Given the description of an element on the screen output the (x, y) to click on. 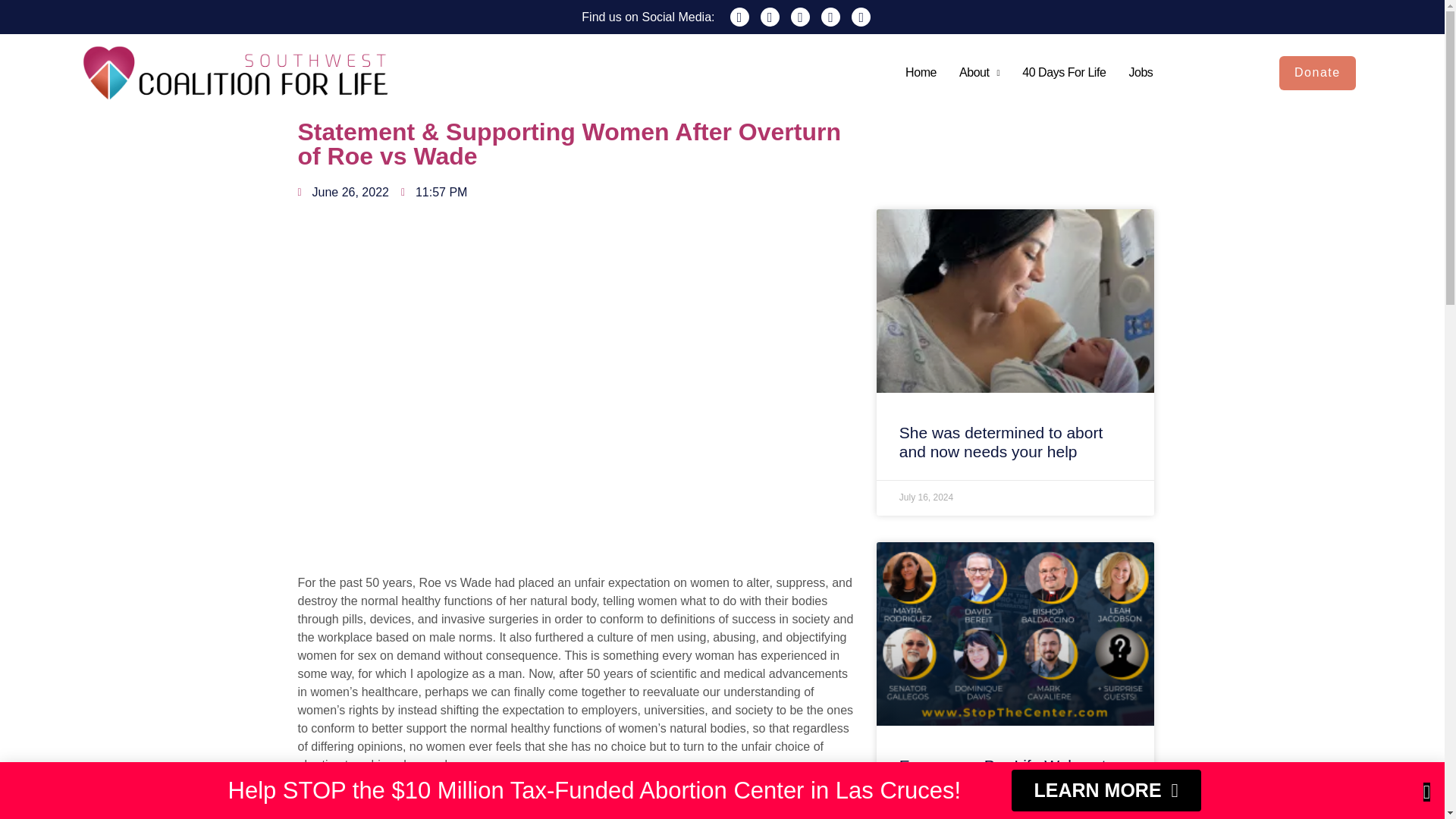
She was determined to abort and now needs your help (1001, 442)
Home (920, 72)
40 Days For Life (1063, 72)
Jobs (1140, 72)
Donate (1317, 73)
About (979, 72)
